Given the description of an element on the screen output the (x, y) to click on. 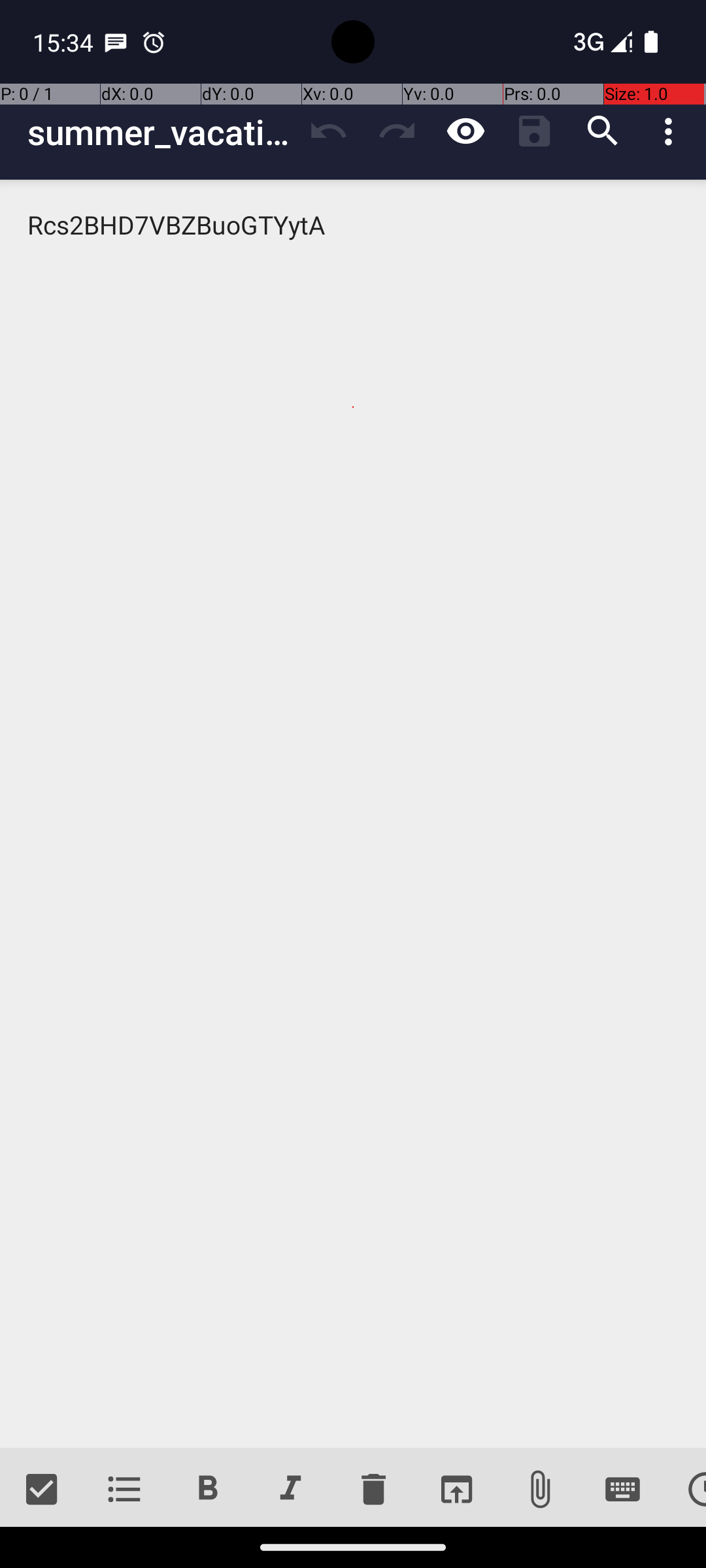
summer_vacation_plans_bqrf Element type: android.widget.TextView (160, 131)
Rcs2BHD7VBZBuoGTYytA
 Element type: android.widget.EditText (353, 813)
